Given the description of an element on the screen output the (x, y) to click on. 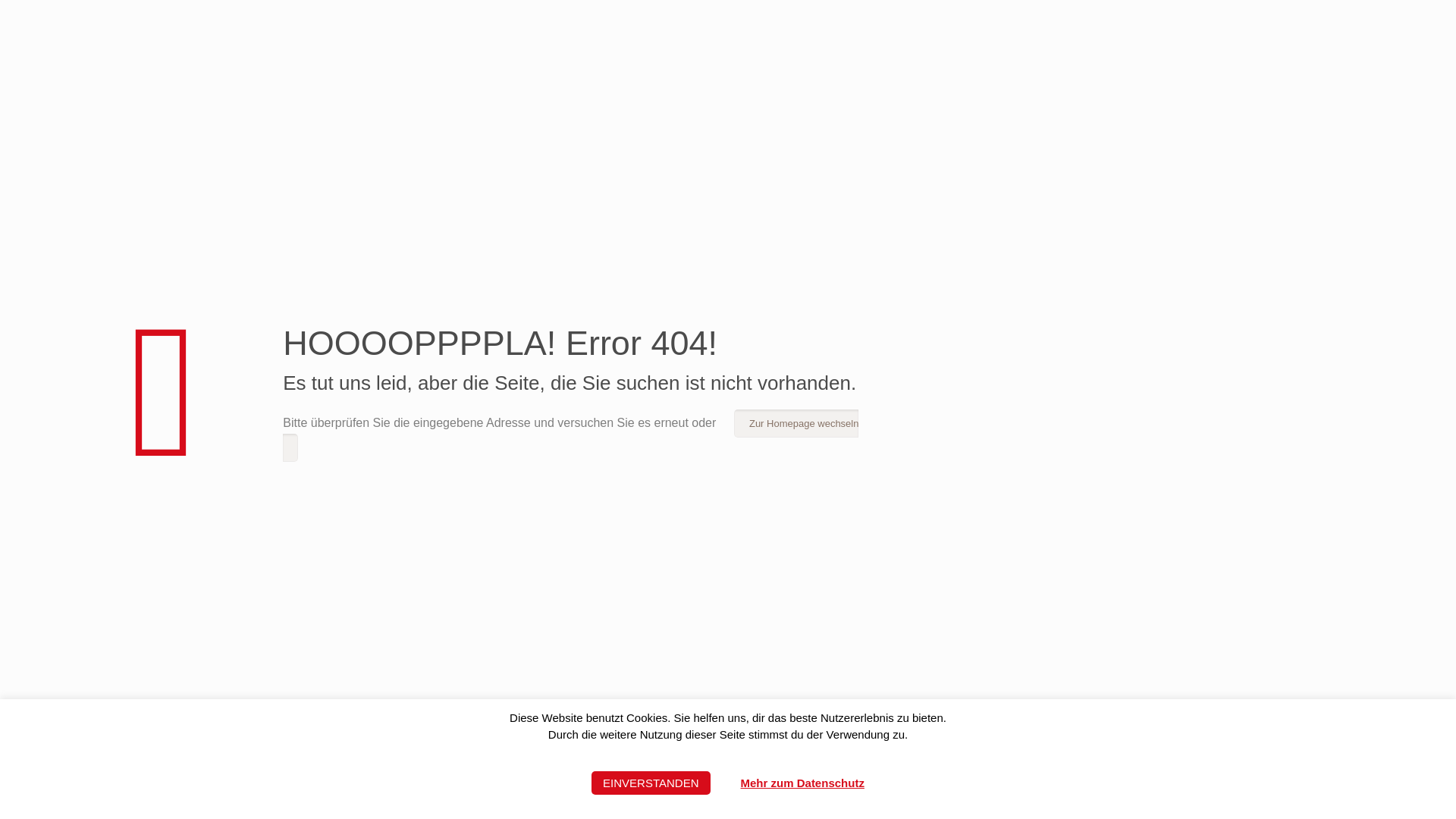
EINVERSTANDEN Element type: text (650, 782)
Zur Homepage wechseln Element type: text (570, 435)
Mehr zum Datenschutz Element type: text (802, 782)
